Given the description of an element on the screen output the (x, y) to click on. 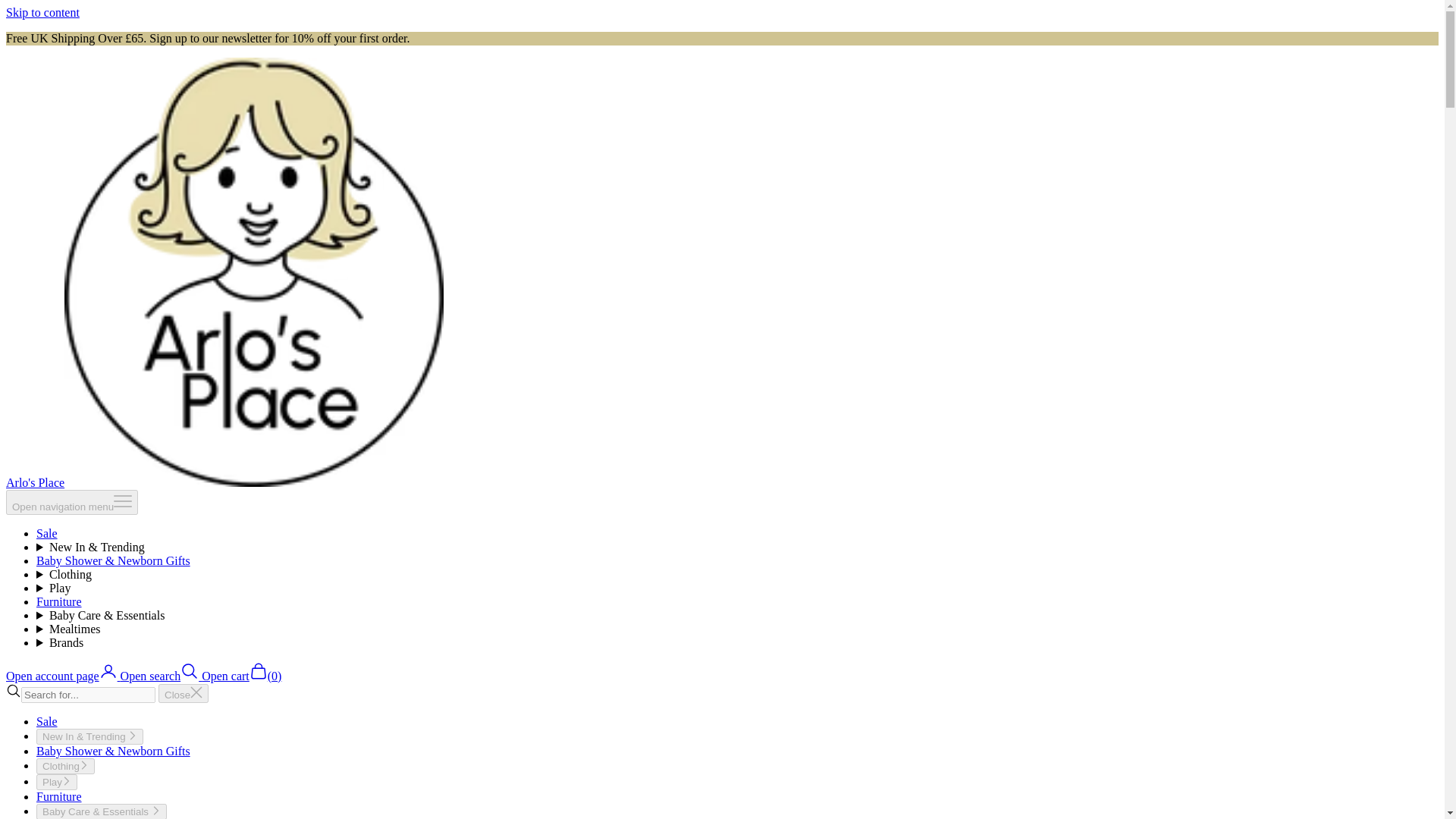
Sale (47, 533)
Open navigation menu (71, 502)
Arlo's Place (224, 481)
Skip to content (42, 11)
